Given the description of an element on the screen output the (x, y) to click on. 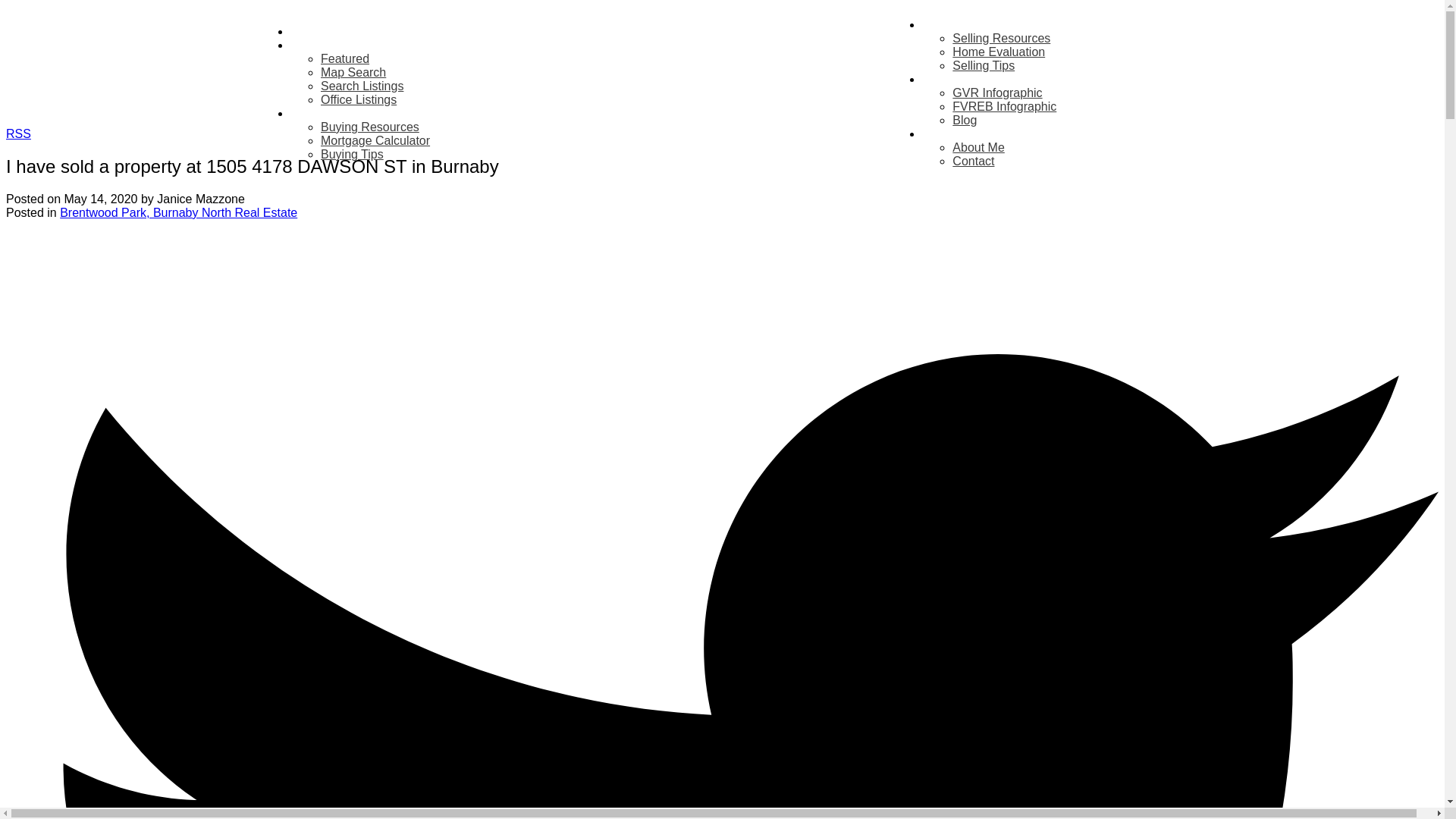
Office Listings (358, 99)
RSS (17, 133)
HOME (307, 32)
Brentwood Park, Burnaby North Real Estate (178, 212)
Buying Tips (352, 154)
Blog (964, 119)
Search Listings (361, 85)
Contact (973, 160)
Featured (344, 58)
Mortgage Calculator (374, 140)
